Given the description of an element on the screen output the (x, y) to click on. 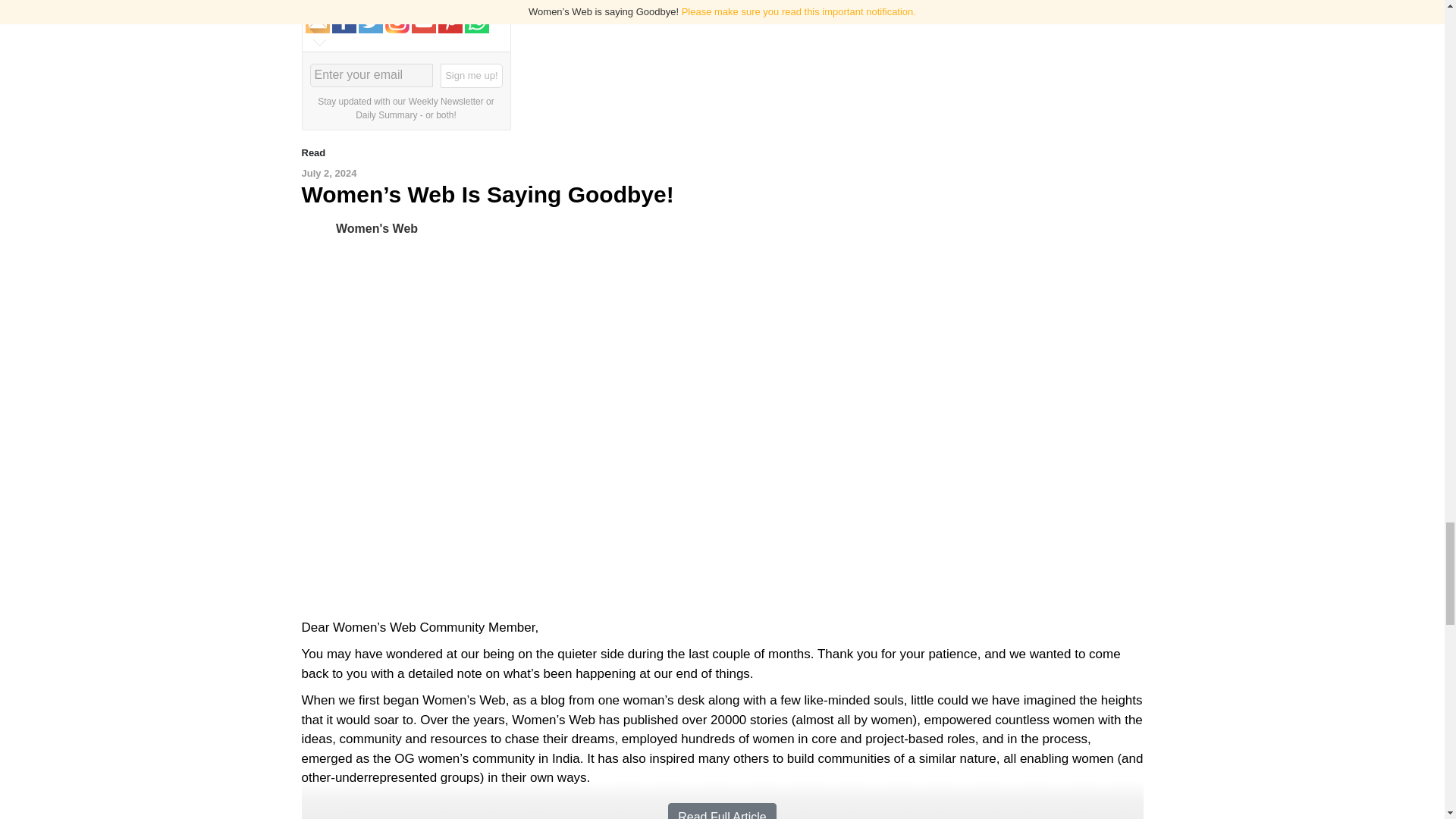
Women's Web (318, 228)
Sign me up! (471, 75)
Women's Web (376, 228)
